Given the description of an element on the screen output the (x, y) to click on. 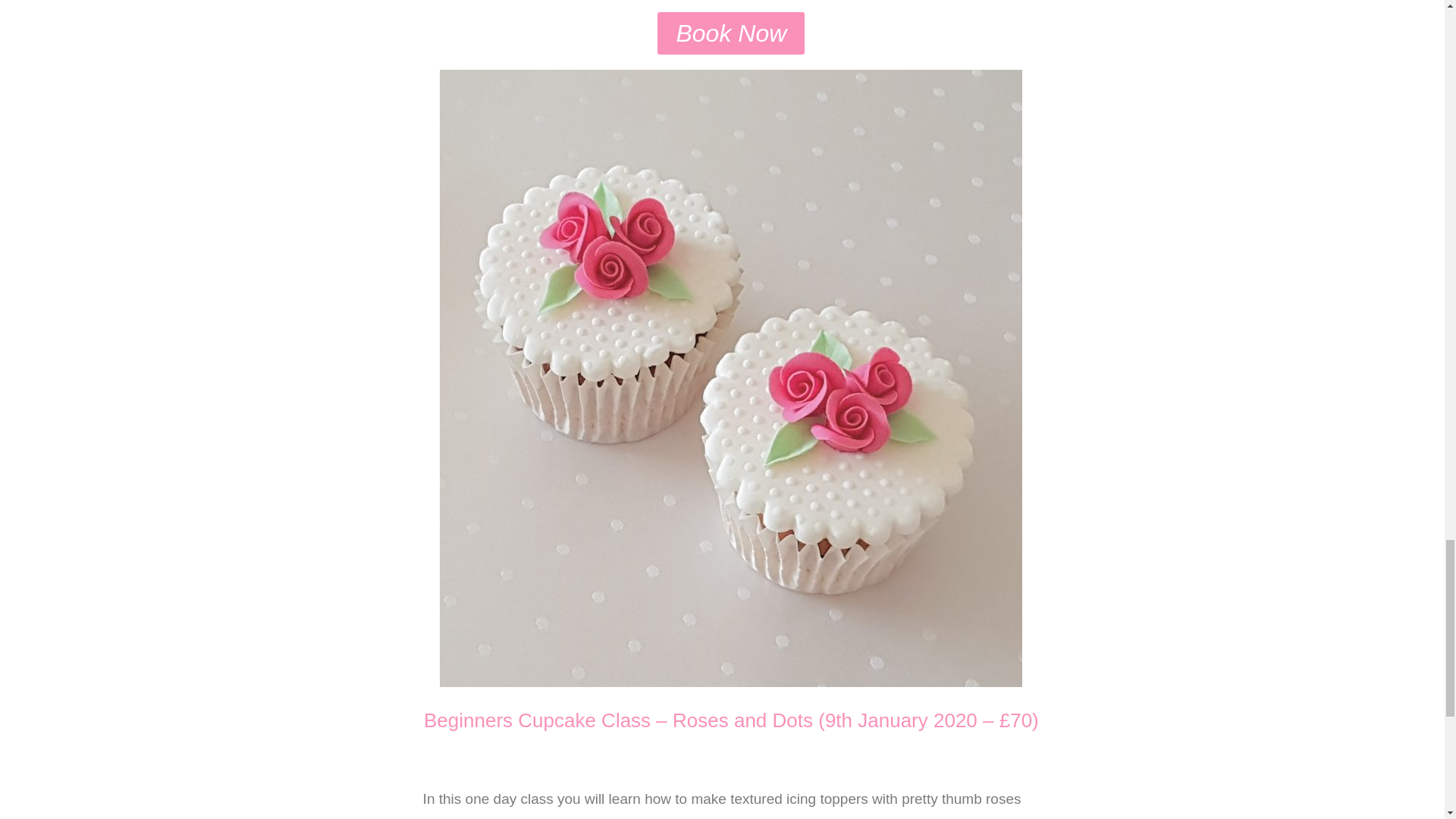
Book Now (731, 33)
